Given the description of an element on the screen output the (x, y) to click on. 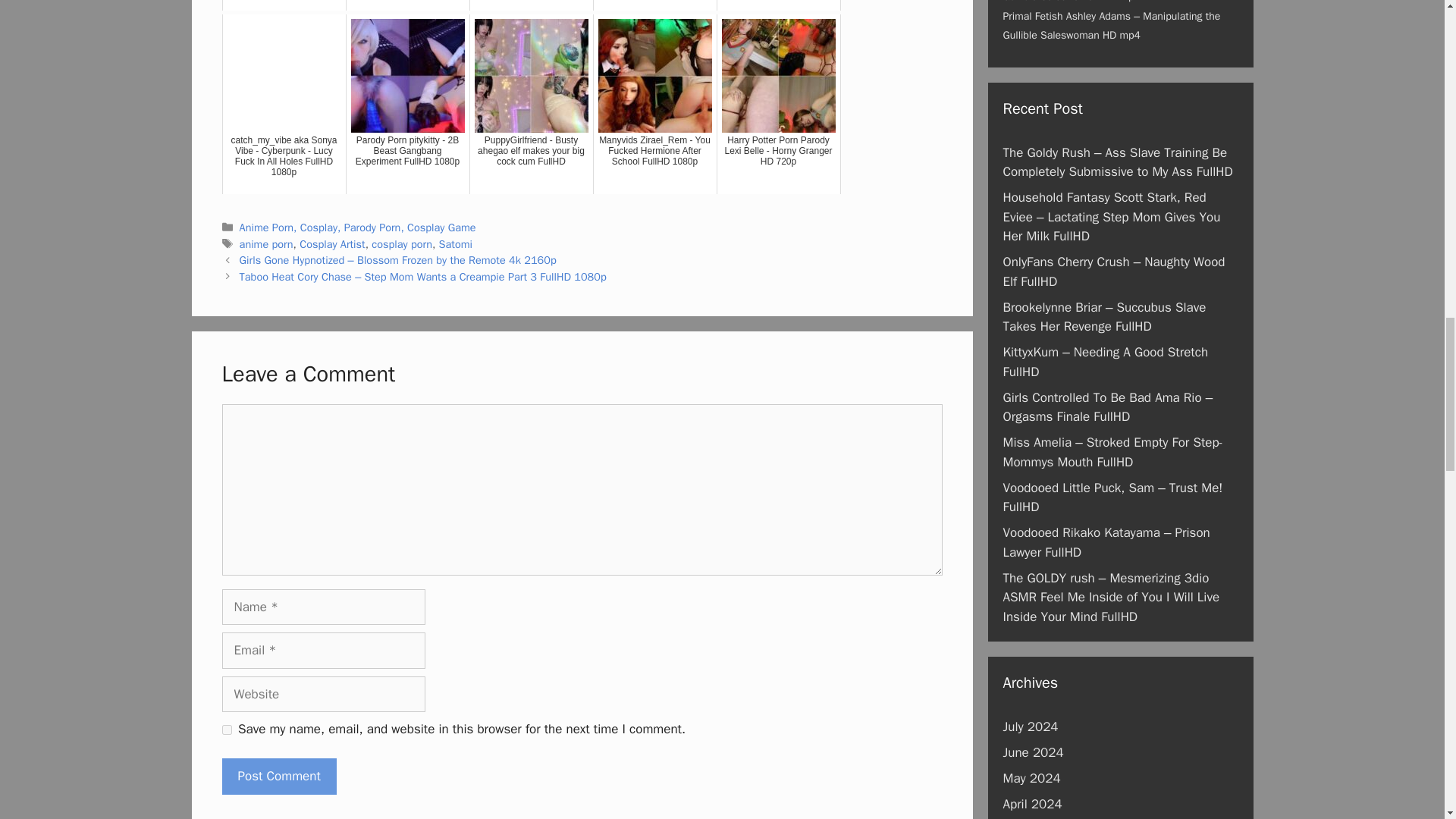
Cosplay Artist (332, 243)
Next (423, 276)
Onlyfans Morgpie - Dick Ride Sextape Video Leaked HD 720p (408, 5)
Harry Potter Porn Parody Lexi Belle - Horny Granger HD 720p (778, 104)
Bronwin Aurora 8 Girls 3 Boys Orgy Video Leaked (283, 5)
anime porn (267, 243)
Satomi (455, 243)
cosplay porn (401, 243)
Post Comment (278, 776)
yes (226, 729)
